Given the description of an element on the screen output the (x, y) to click on. 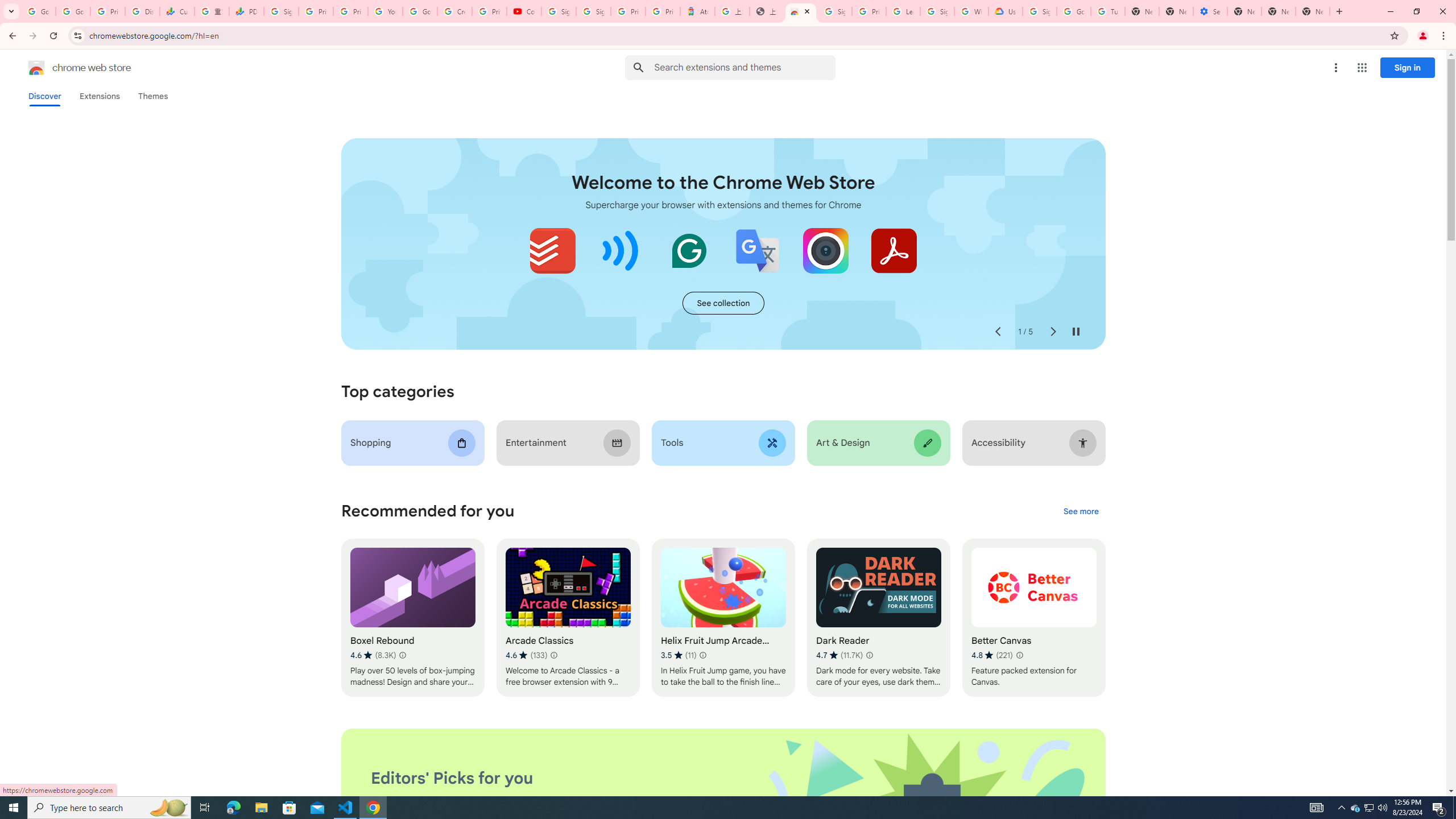
Average rating 4.6 out of 5 stars. 133 ratings. (526, 655)
Sign in - Google Accounts (1039, 11)
Google Translate (757, 250)
Chrome Web Store logo (36, 67)
YouTube (384, 11)
Atour Hotel - Google hotels (697, 11)
Sign in - Google Accounts (834, 11)
Volume Master (620, 250)
New Tab (1243, 11)
